Given the description of an element on the screen output the (x, y) to click on. 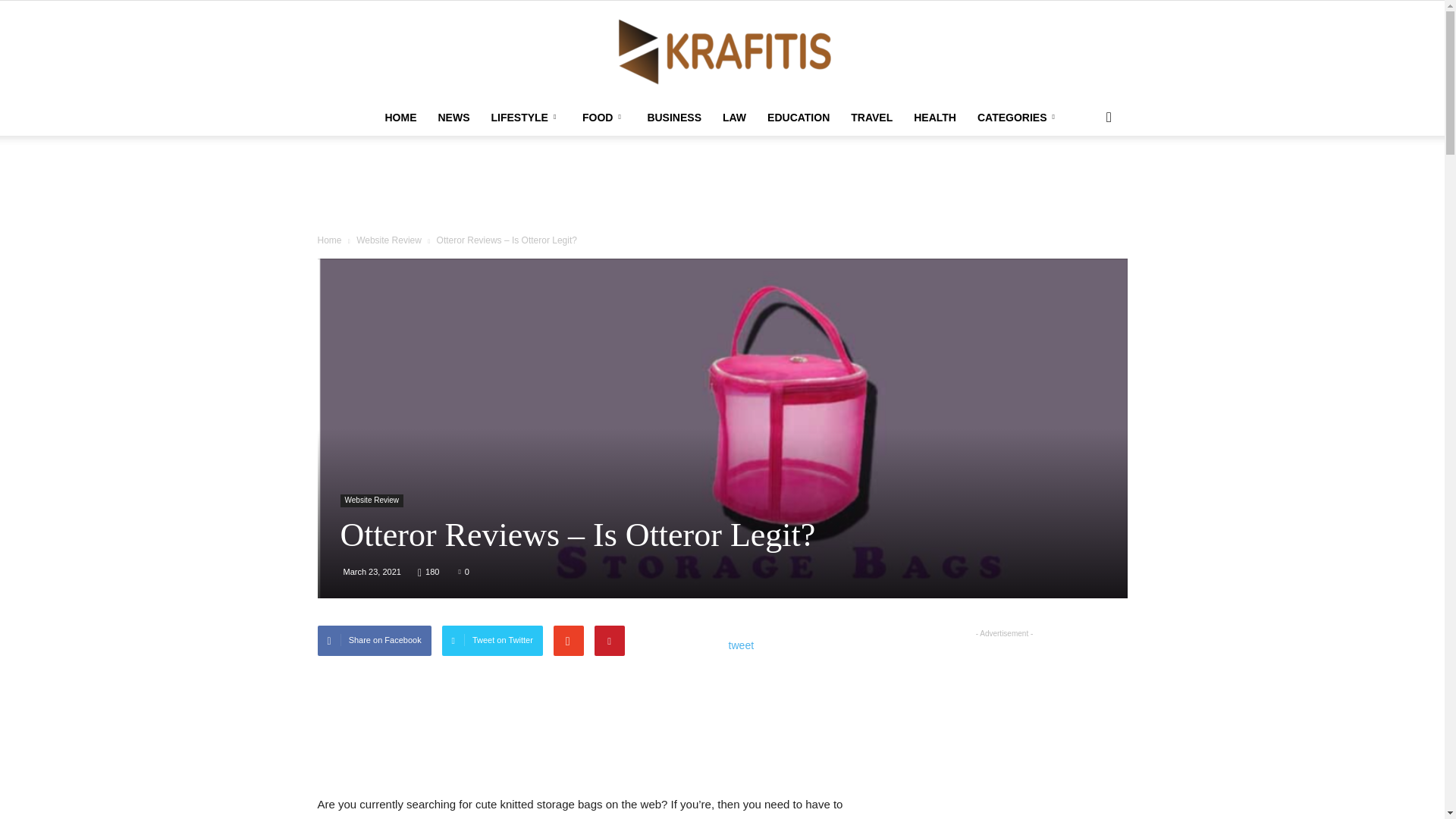
HOME (400, 117)
LIFESTYLE (525, 117)
NEWS (453, 117)
Krafitis (721, 50)
